Given the description of an element on the screen output the (x, y) to click on. 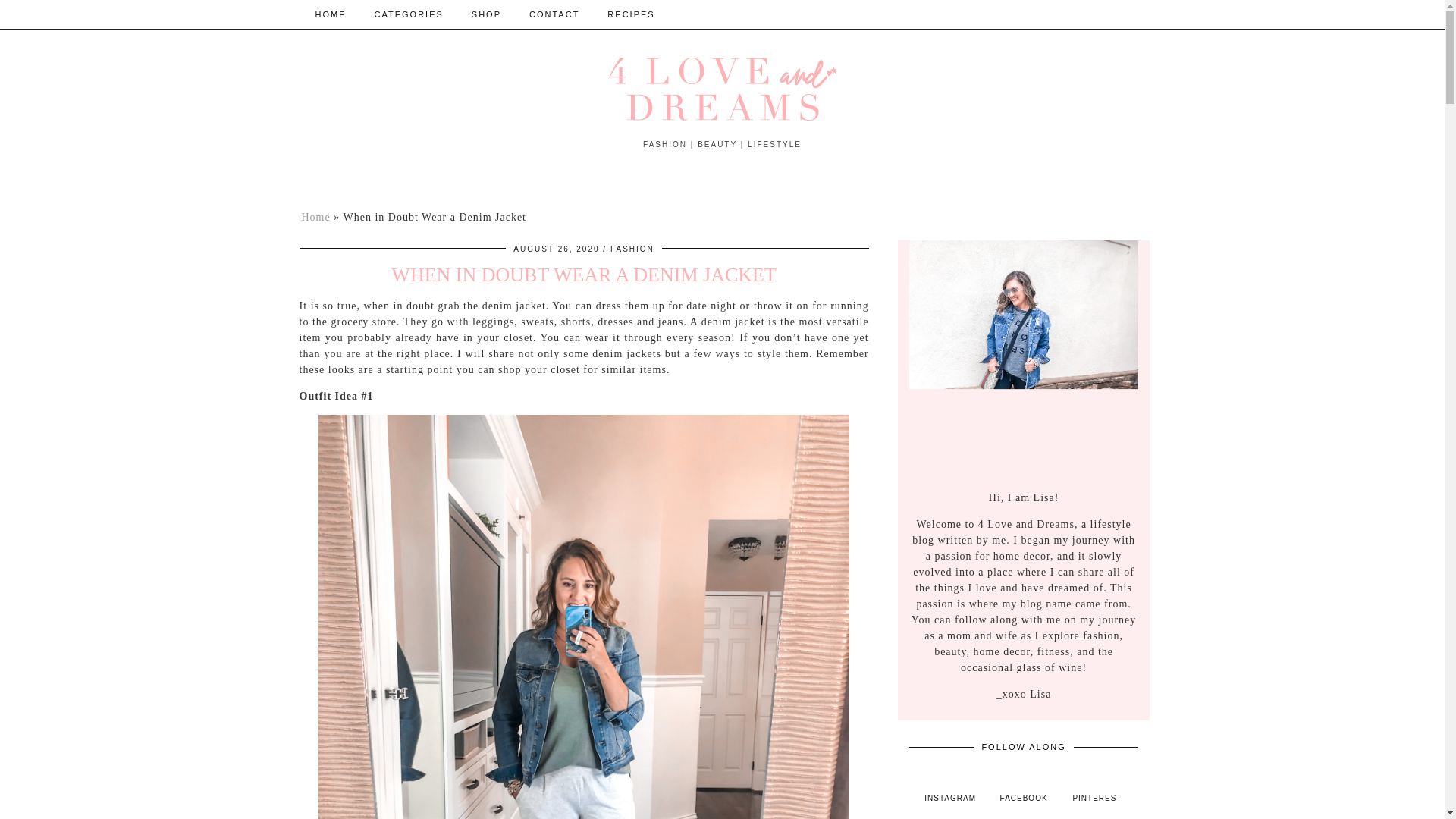
HOME (330, 14)
RECIPES (631, 14)
Home (315, 216)
FASHION (631, 248)
CATEGORIES (409, 14)
CONTACT (553, 14)
SHOP (486, 14)
4 Love And Dreams (721, 88)
